Given the description of an element on the screen output the (x, y) to click on. 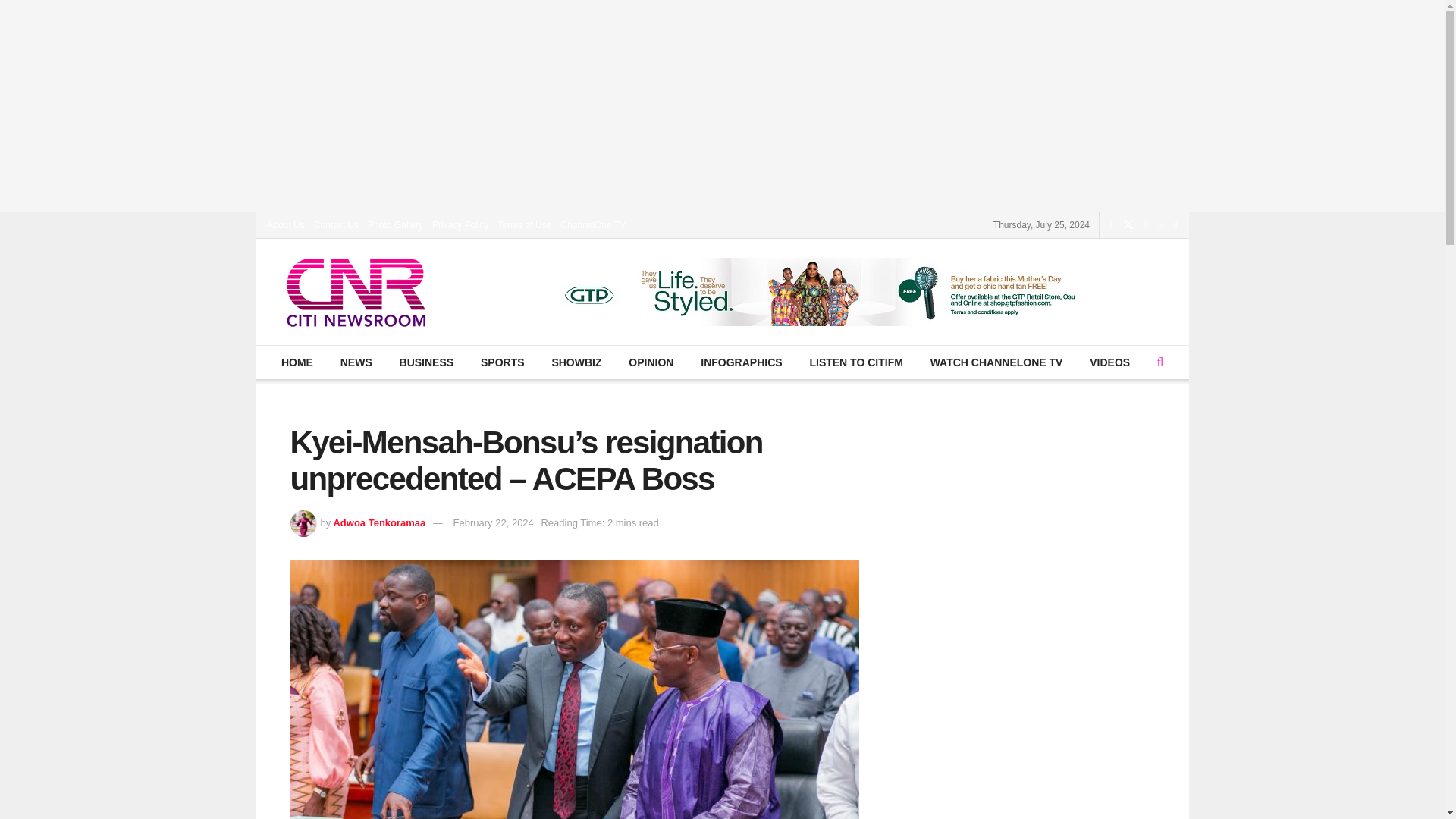
Posts by Adwoa Tenkoramaa (379, 522)
ChannelOne TV (593, 225)
Photo Gallery (395, 225)
VIDEOS (1109, 362)
Terms of Use (524, 225)
WATCH CHANNELONE TV (996, 362)
About Us (285, 225)
BUSINESS (425, 362)
SHOWBIZ (576, 362)
NEWS (355, 362)
Privacy Policy (460, 225)
INFOGRAPHICS (740, 362)
Contact Us (336, 225)
SPORTS (502, 362)
